Given the description of an element on the screen output the (x, y) to click on. 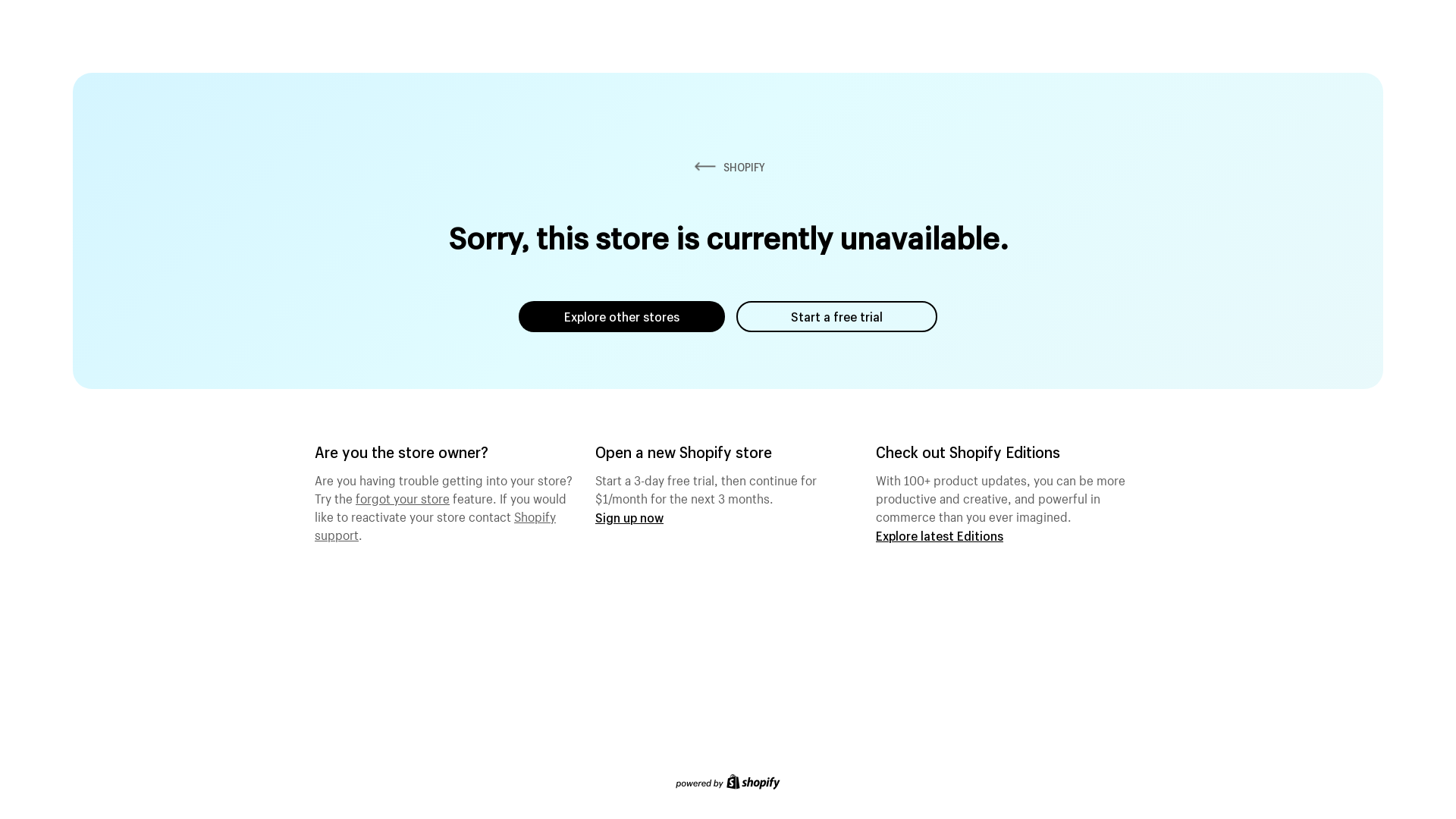
Sign up now Element type: text (629, 517)
SHOPIFY Element type: text (727, 167)
forgot your store Element type: text (402, 496)
Explore other stores Element type: text (621, 316)
Start a free trial Element type: text (836, 316)
Explore latest Editions Element type: text (939, 535)
Shopify support Element type: text (434, 523)
